Given the description of an element on the screen output the (x, y) to click on. 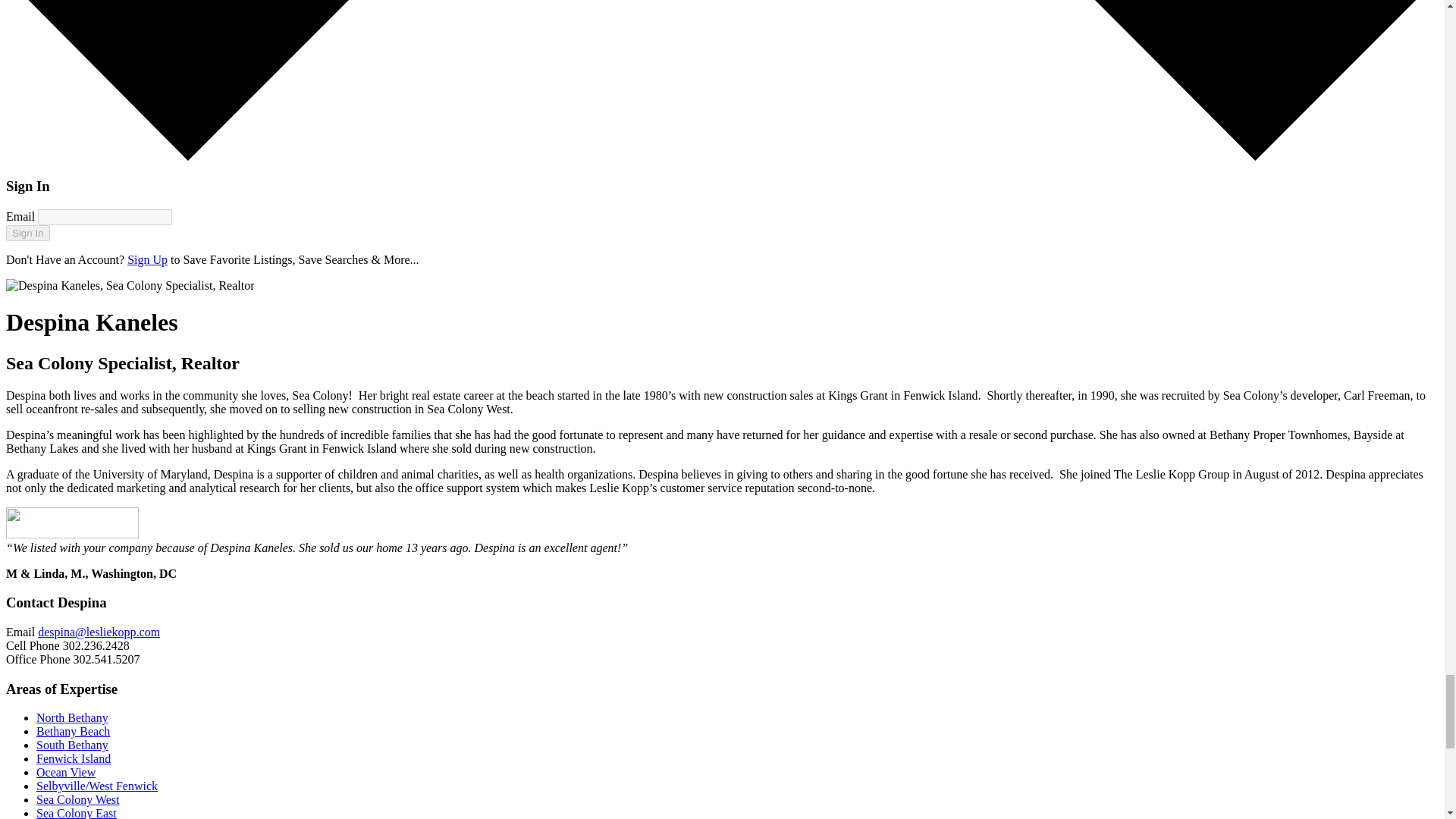
Sign In (27, 232)
Bethany Beach (73, 730)
North Bethany (71, 717)
Sign Up (147, 259)
South Bethany (71, 744)
